Given the description of an element on the screen output the (x, y) to click on. 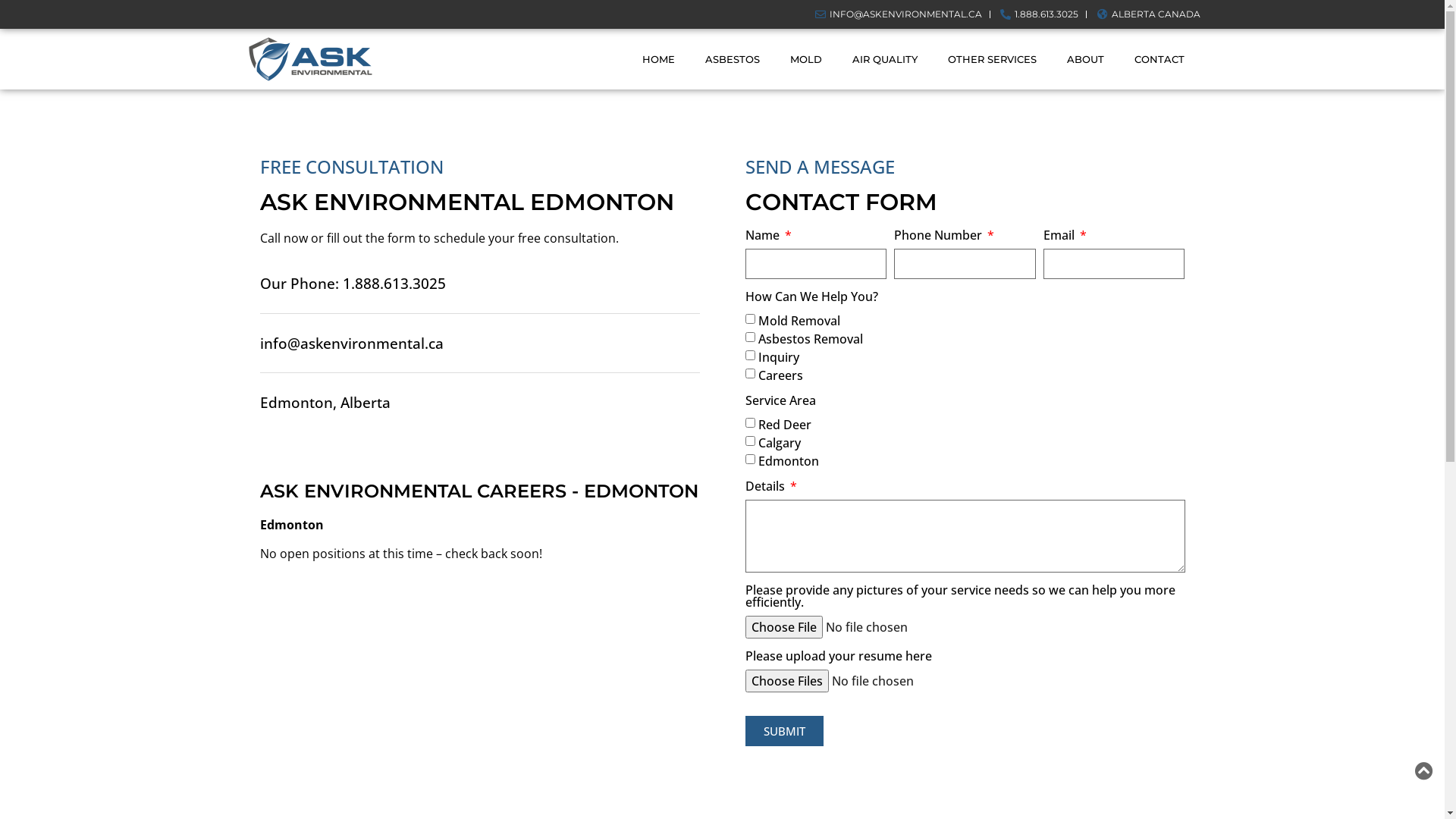
logo Element type: hover (309, 58)
1.888.613.3025 Element type: text (1038, 14)
INFO@ASKENVIRONMENTAL.CA Element type: text (897, 14)
SUBMIT Element type: text (783, 730)
MOLD Element type: text (806, 58)
Our Phone: 1.888.613.3025 Element type: text (479, 283)
CONTACT Element type: text (1159, 58)
AIR QUALITY Element type: text (884, 58)
HOME Element type: text (658, 58)
ASBESTOS Element type: text (732, 58)
info@askenvironmental.ca Element type: text (479, 343)
ABOUT Element type: text (1085, 58)
OTHER SERVICES Element type: text (991, 58)
